Given the description of an element on the screen output the (x, y) to click on. 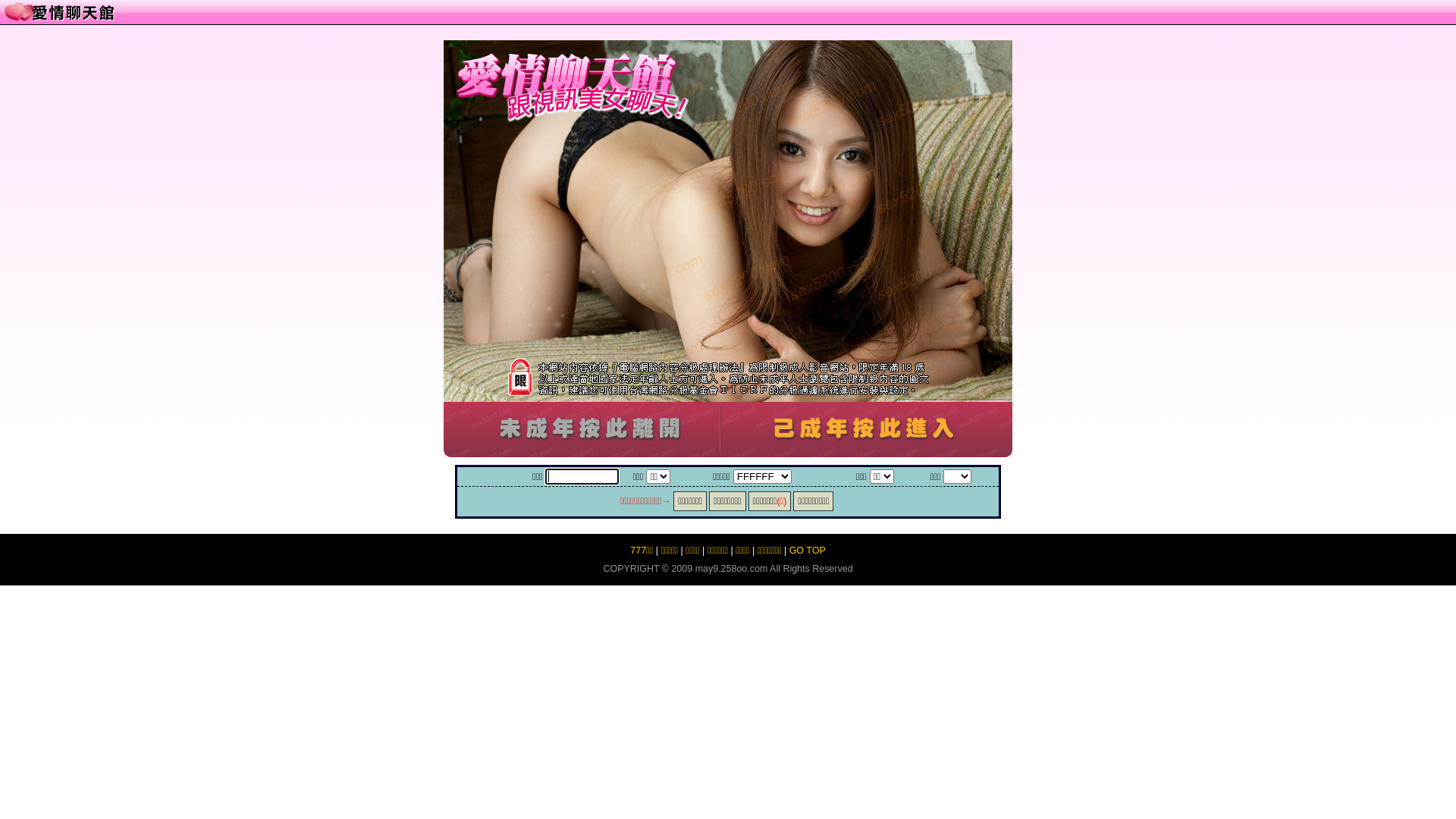
may9.258oo.com Element type: text (731, 568)
GO TOP Element type: text (807, 550)
